Given the description of an element on the screen output the (x, y) to click on. 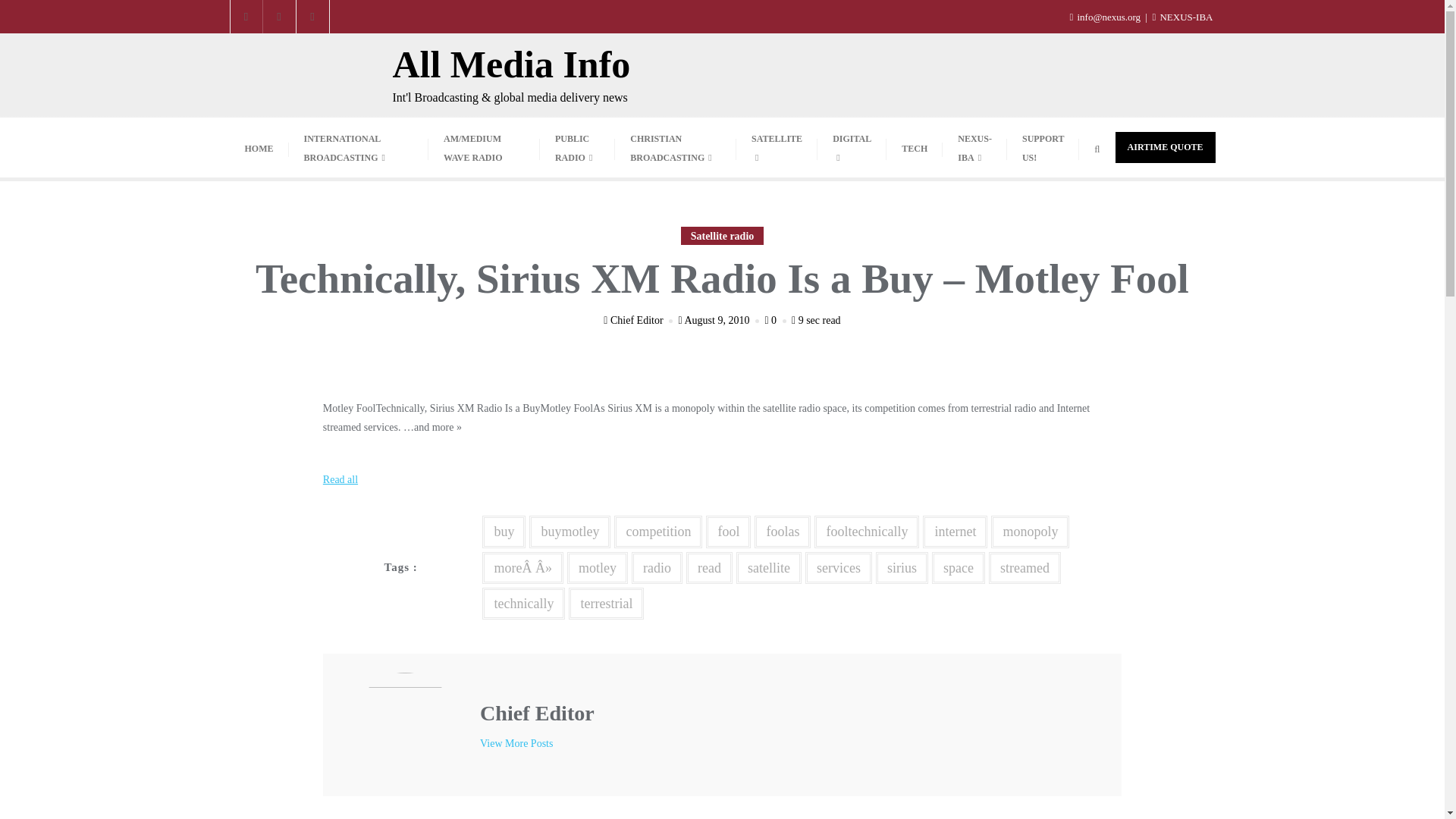
SUPPORT US! (1042, 147)
CHRISTIAN BROADCASTING (675, 147)
NEXUS-IBA (1181, 16)
TECH (914, 147)
PUBLIC RADIO (577, 147)
NEXUS-IBA (974, 147)
INTERNATIONAL BROADCASTING (358, 147)
AIRTIME QUOTE (1165, 146)
DIGITAL (851, 147)
HOME (258, 147)
SATELLITE (776, 147)
